Given the description of an element on the screen output the (x, y) to click on. 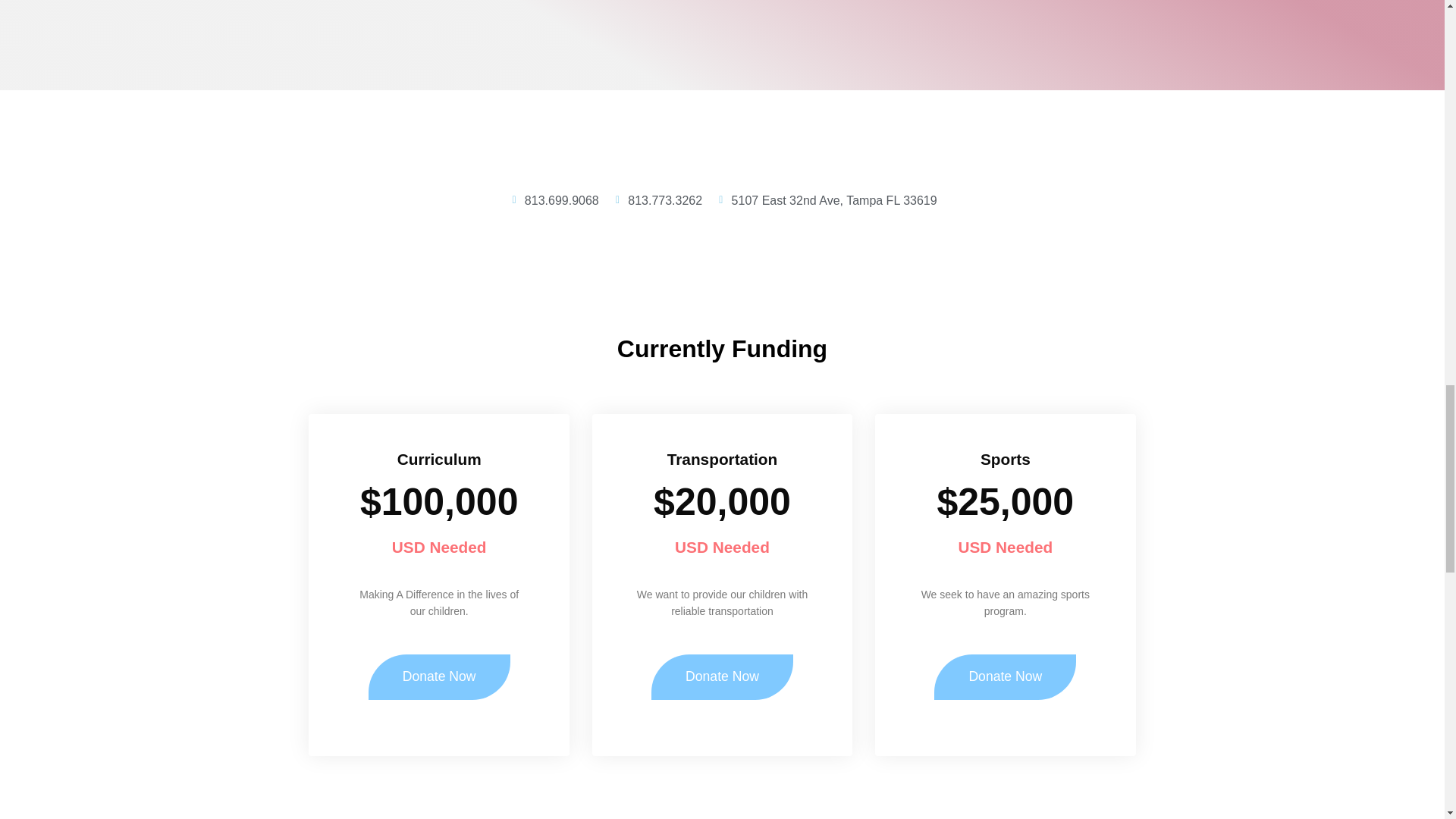
Donate Now (439, 677)
Donate Now (721, 677)
Donate Now (1004, 677)
